Given the description of an element on the screen output the (x, y) to click on. 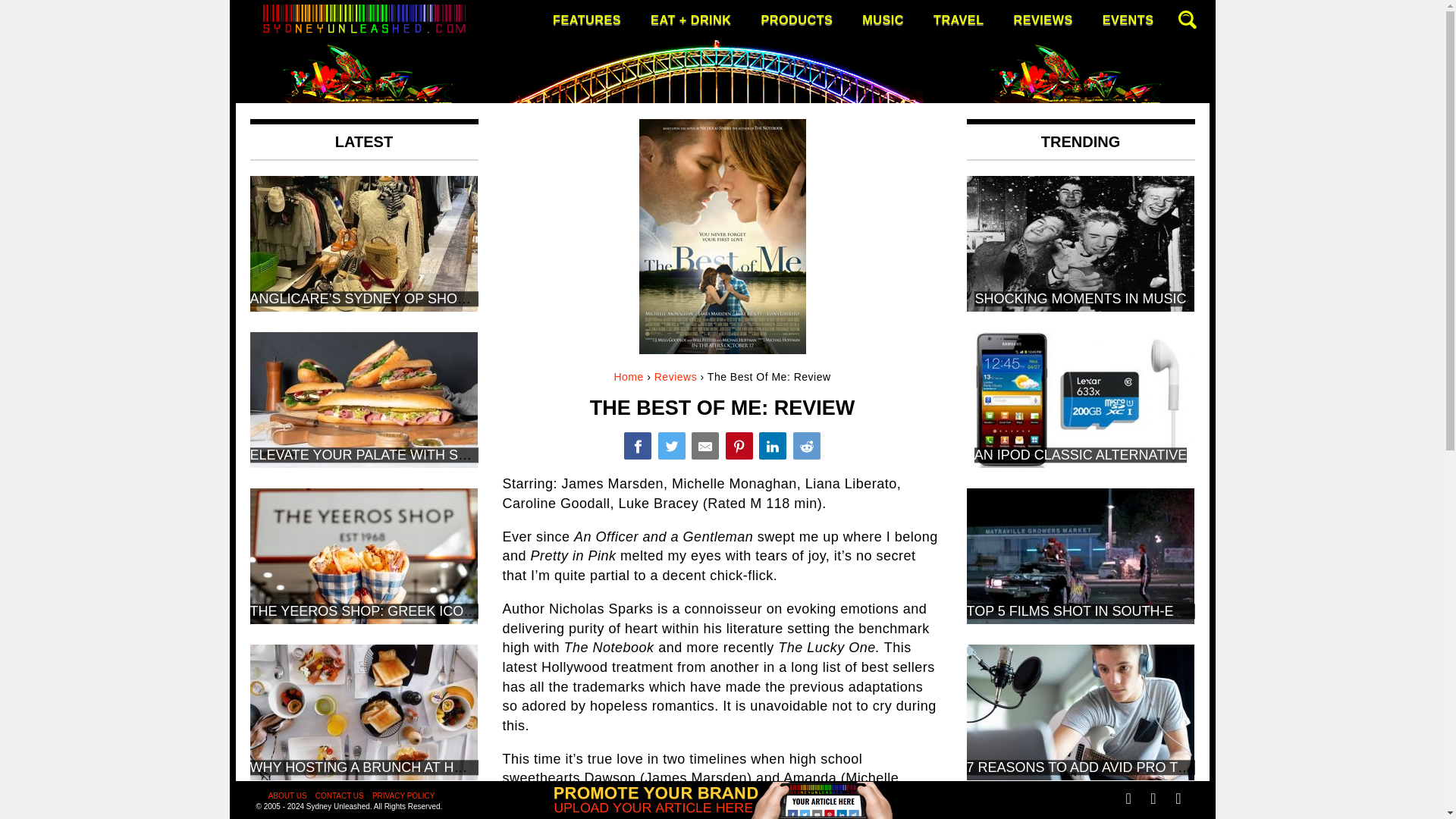
SHOCKING MOMENTS IN MUSIC (1080, 298)
Upload Your Featured Post (721, 812)
MUSIC (882, 19)
REVIEWS (1043, 19)
FEATURES (586, 19)
EVENTS (1128, 19)
PRODUCTS (796, 19)
TRAVEL (958, 19)
Reviews (675, 377)
The Best Of Me: Review (637, 445)
Sydney Unleashed (320, 149)
THE YEEROS SHOP: GREEK ICON OPENS IN ANNANDALE (439, 611)
WHY HOSTING A BRUNCH AT HOME CAN BE THE PERFECT GET-TOGETHER (499, 767)
AN IPOD CLASSIC ALTERNATIVE (1080, 454)
